Given the description of an element on the screen output the (x, y) to click on. 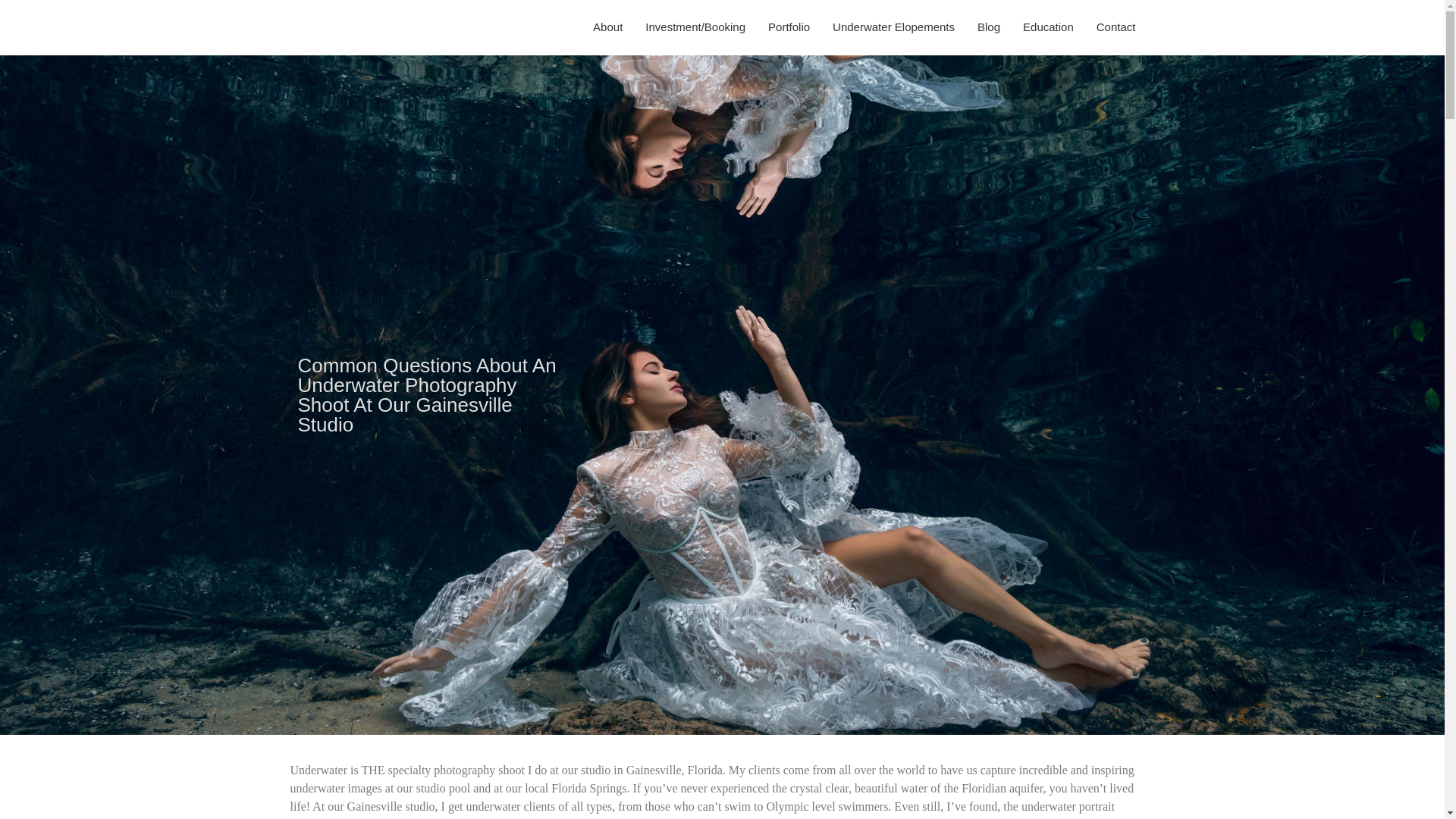
Portfolio (783, 27)
Underwater Elopements (888, 27)
Education (1042, 27)
About (601, 27)
Contact (1109, 27)
